Given the description of an element on the screen output the (x, y) to click on. 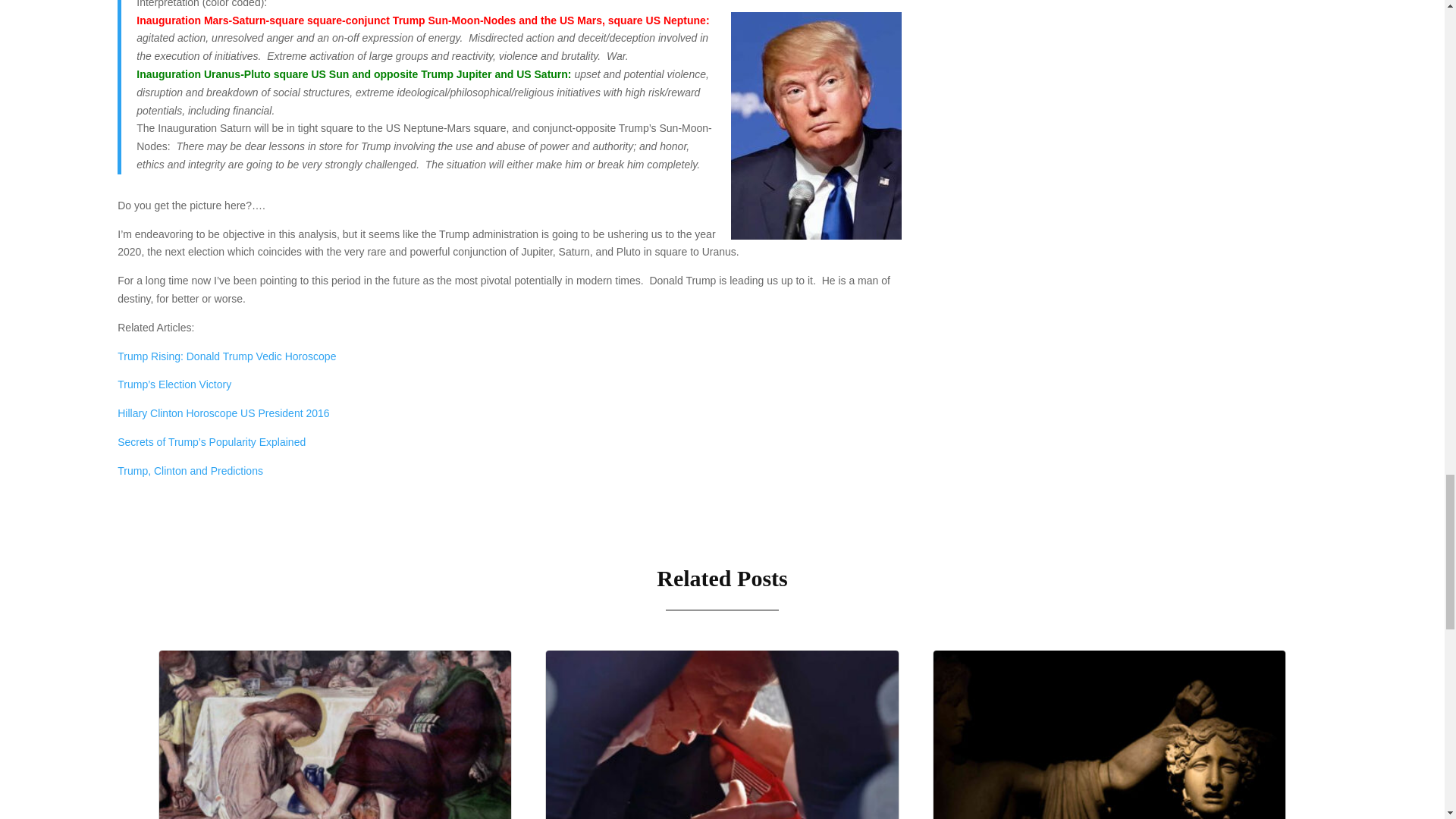
Hillary Clinton Horoscope US President 2016 (223, 413)
Trump Rising: Donald Trump Vedic Horoscope (226, 356)
Trump, Clinton and Predictions (190, 470)
